Given the description of an element on the screen output the (x, y) to click on. 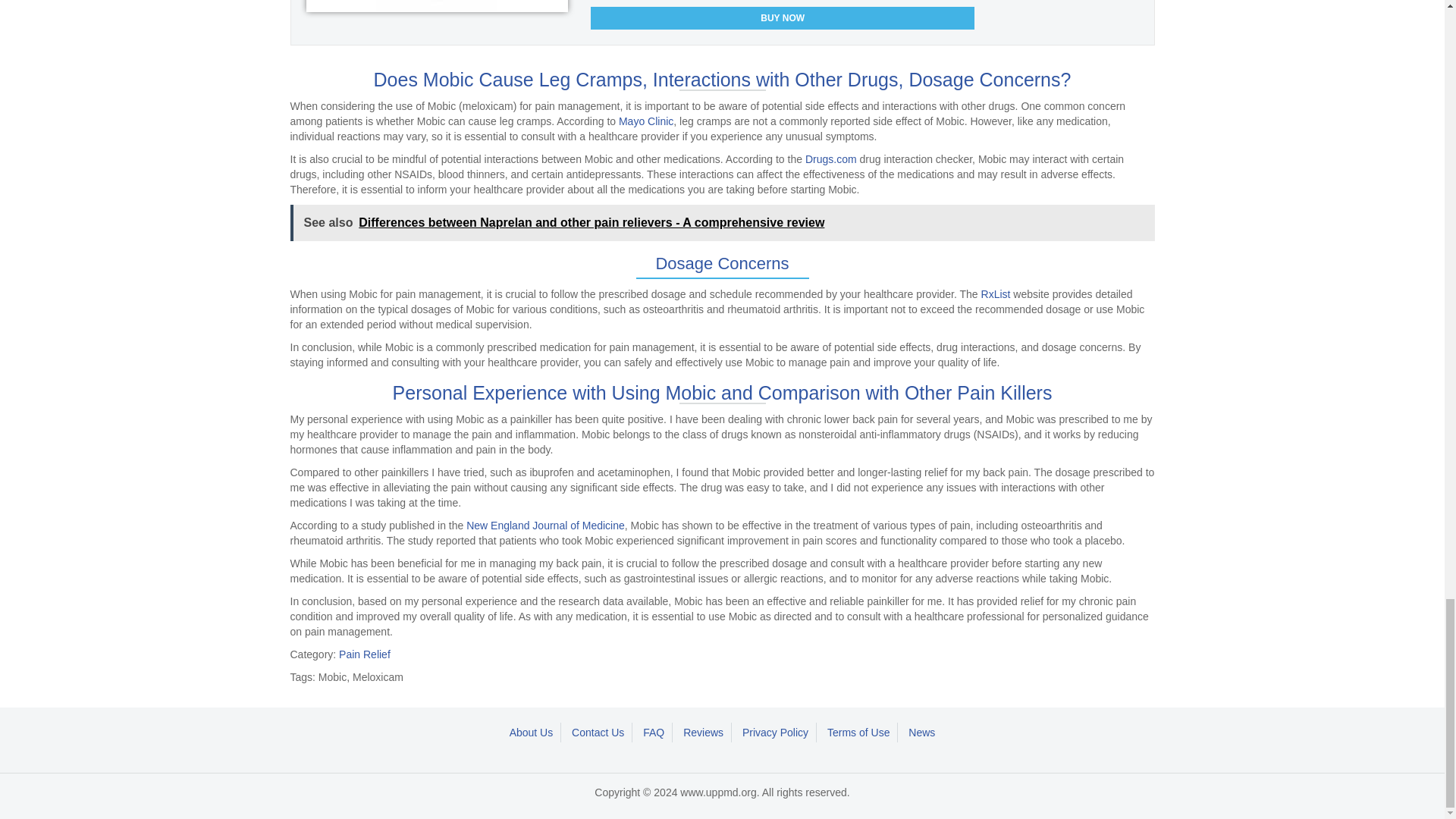
BUY NOW (782, 17)
Mayo Clinic (645, 121)
Pain Relief (364, 654)
Drugs.com (831, 159)
RxList (995, 294)
News (921, 732)
Privacy Policy (775, 732)
Buy Now (782, 17)
Terms of Use (858, 732)
New England Journal of Medicine (544, 525)
